Given the description of an element on the screen output the (x, y) to click on. 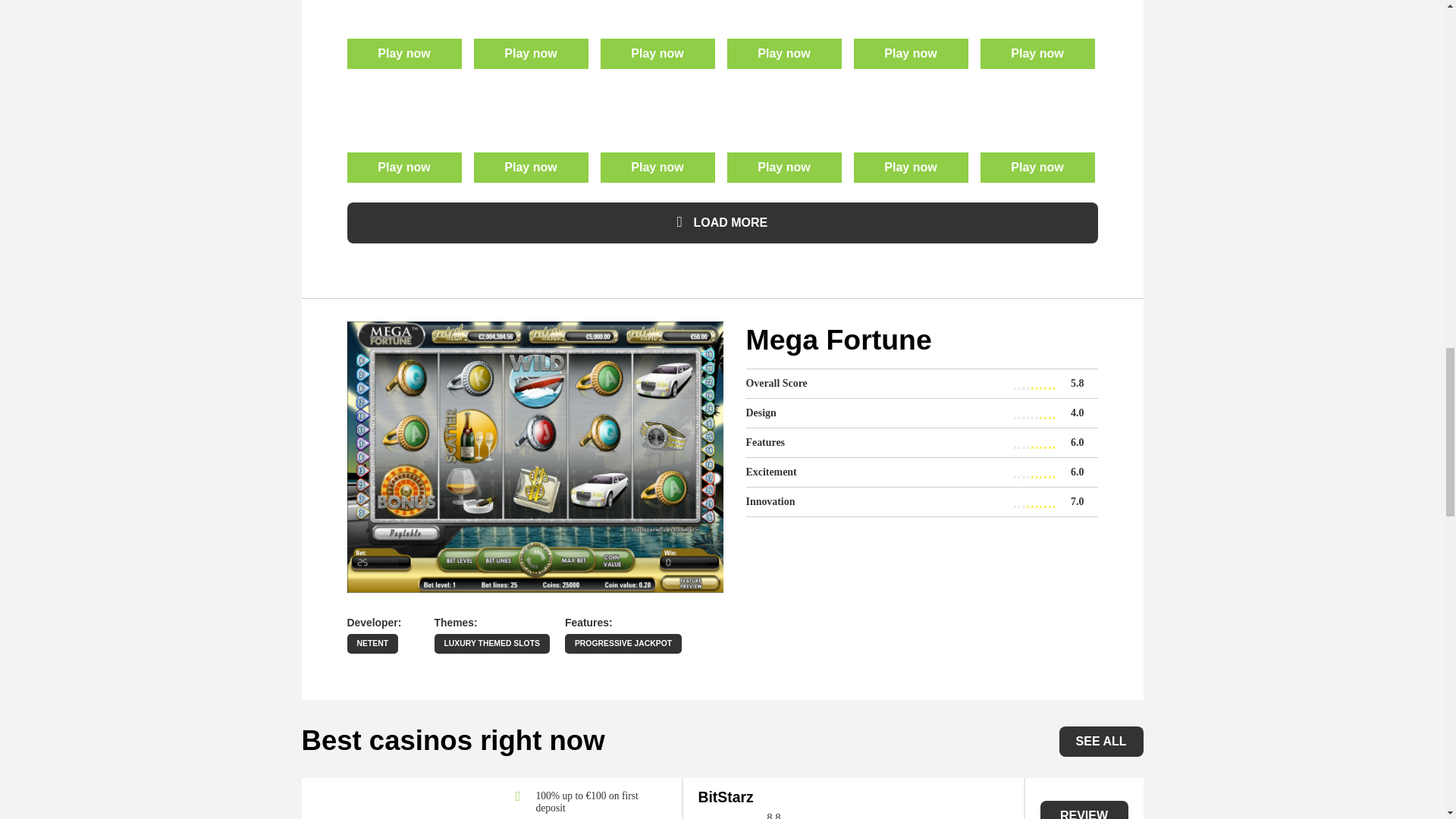
BitStarz (724, 796)
REVIEW (1084, 809)
LOAD MORE (722, 222)
